Given the description of an element on the screen output the (x, y) to click on. 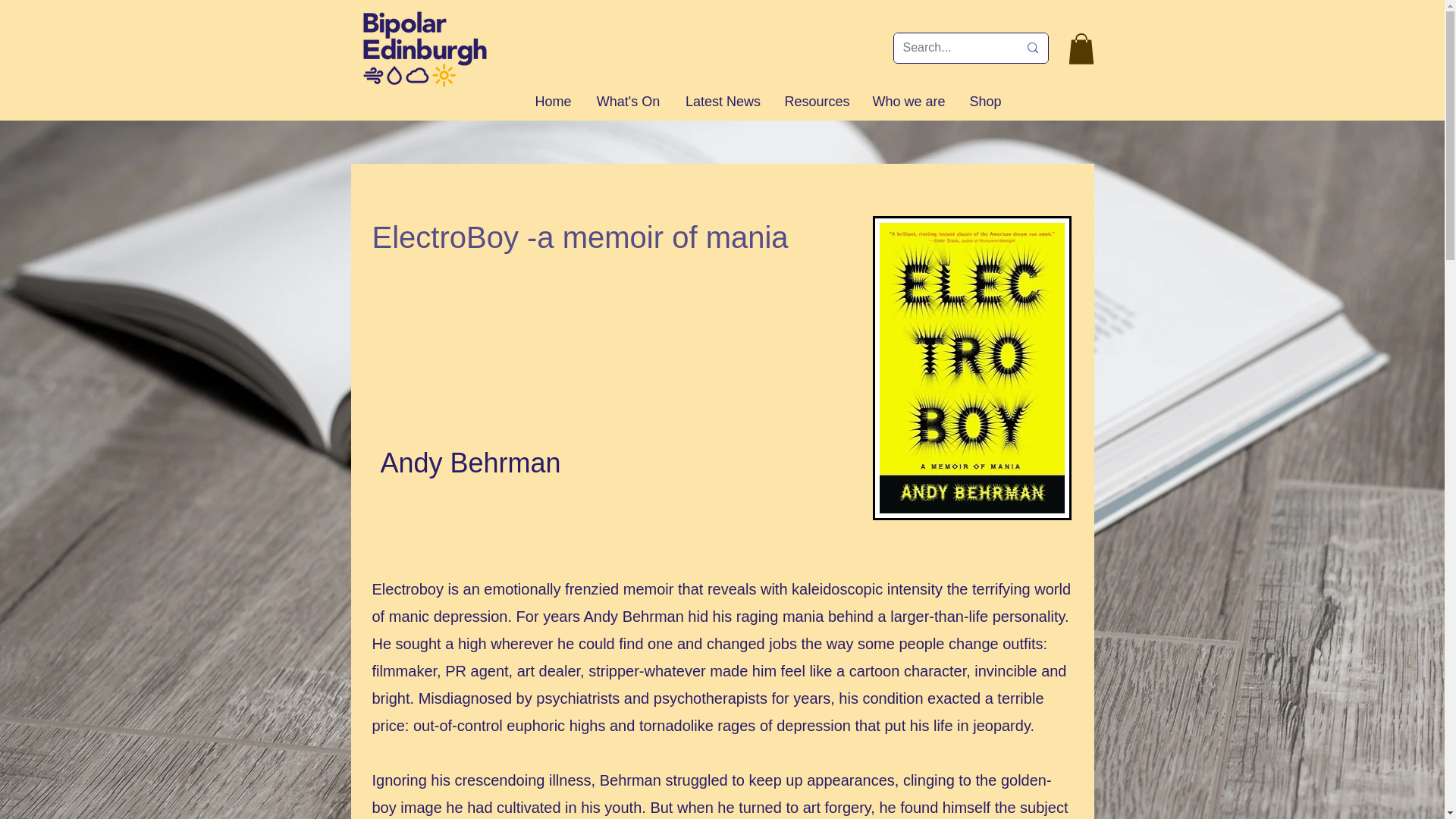
Shop (985, 101)
Who we are (909, 101)
Resources (816, 101)
Home (552, 101)
What's On (627, 101)
Latest News (722, 101)
